Given the description of an element on the screen output the (x, y) to click on. 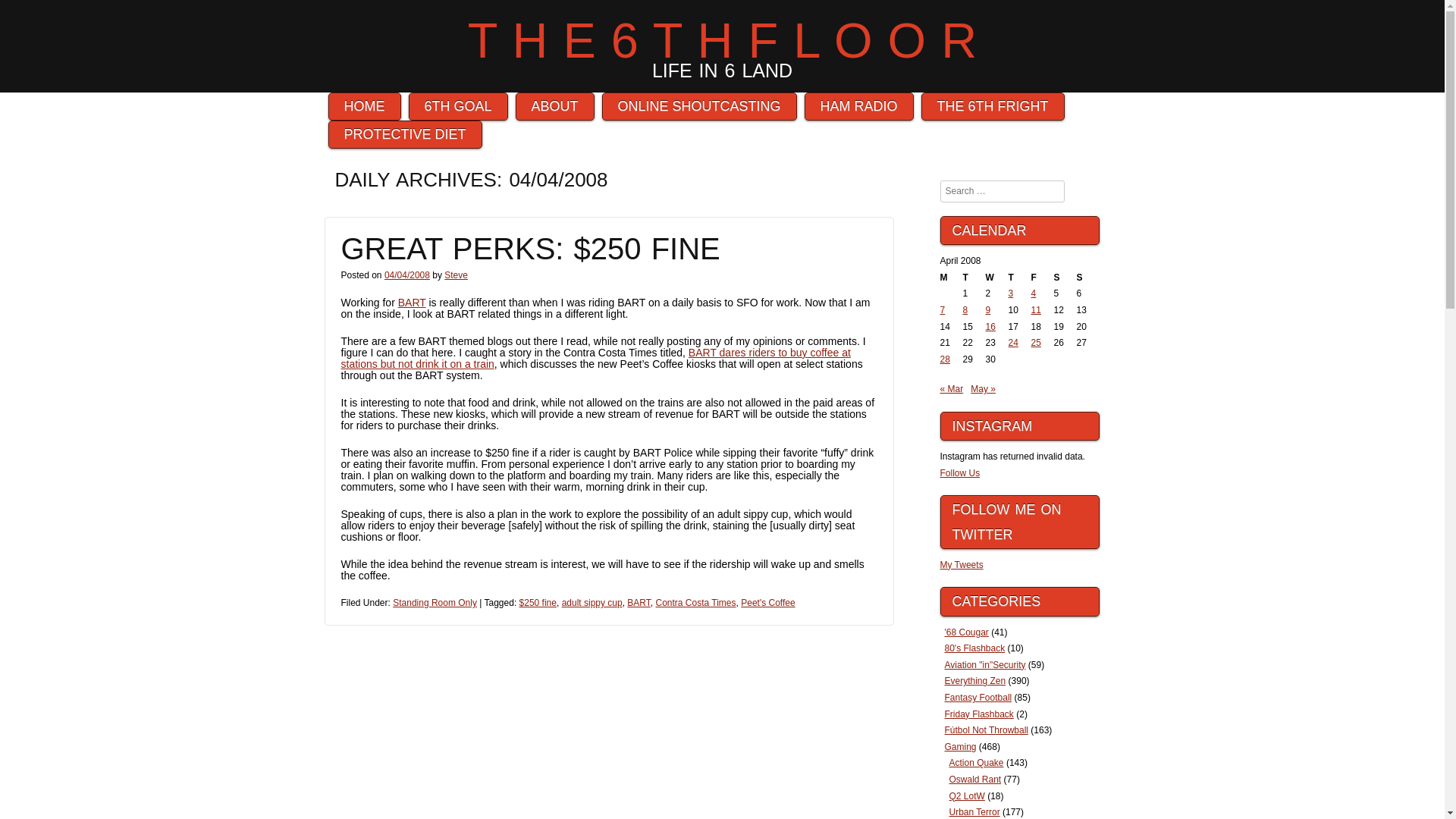
T H E 6 T H F L O O R (721, 40)
Wednesday (997, 278)
T H E  6 T H  F L O O R (721, 40)
THE 6TH FRIGHT (992, 106)
Tuesday (973, 278)
Sunday (1088, 278)
19:19 (406, 275)
ONLINE SHOUTCASTING (698, 106)
View all posts by Steve (455, 275)
ABOUT (554, 106)
